Given the description of an element on the screen output the (x, y) to click on. 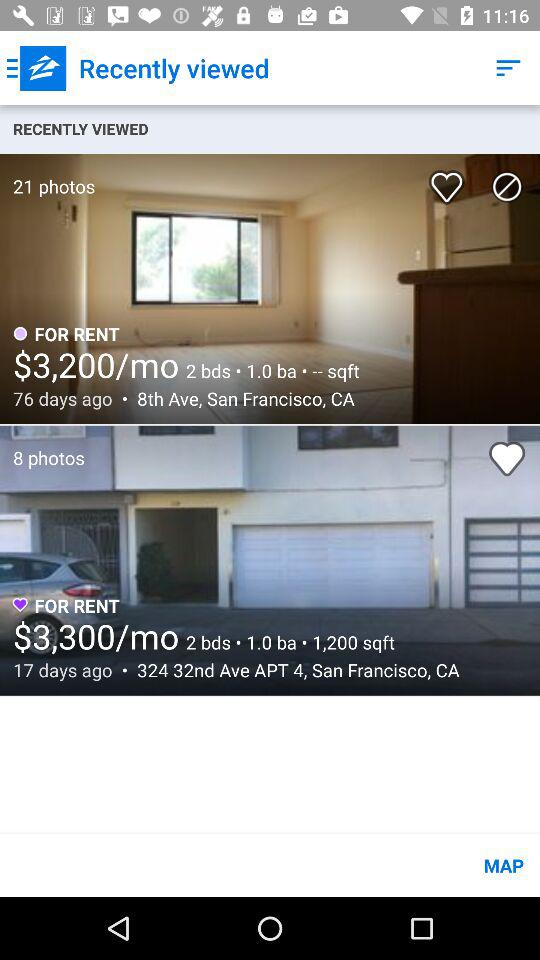
tap icon next to the recently viewed (36, 68)
